Given the description of an element on the screen output the (x, y) to click on. 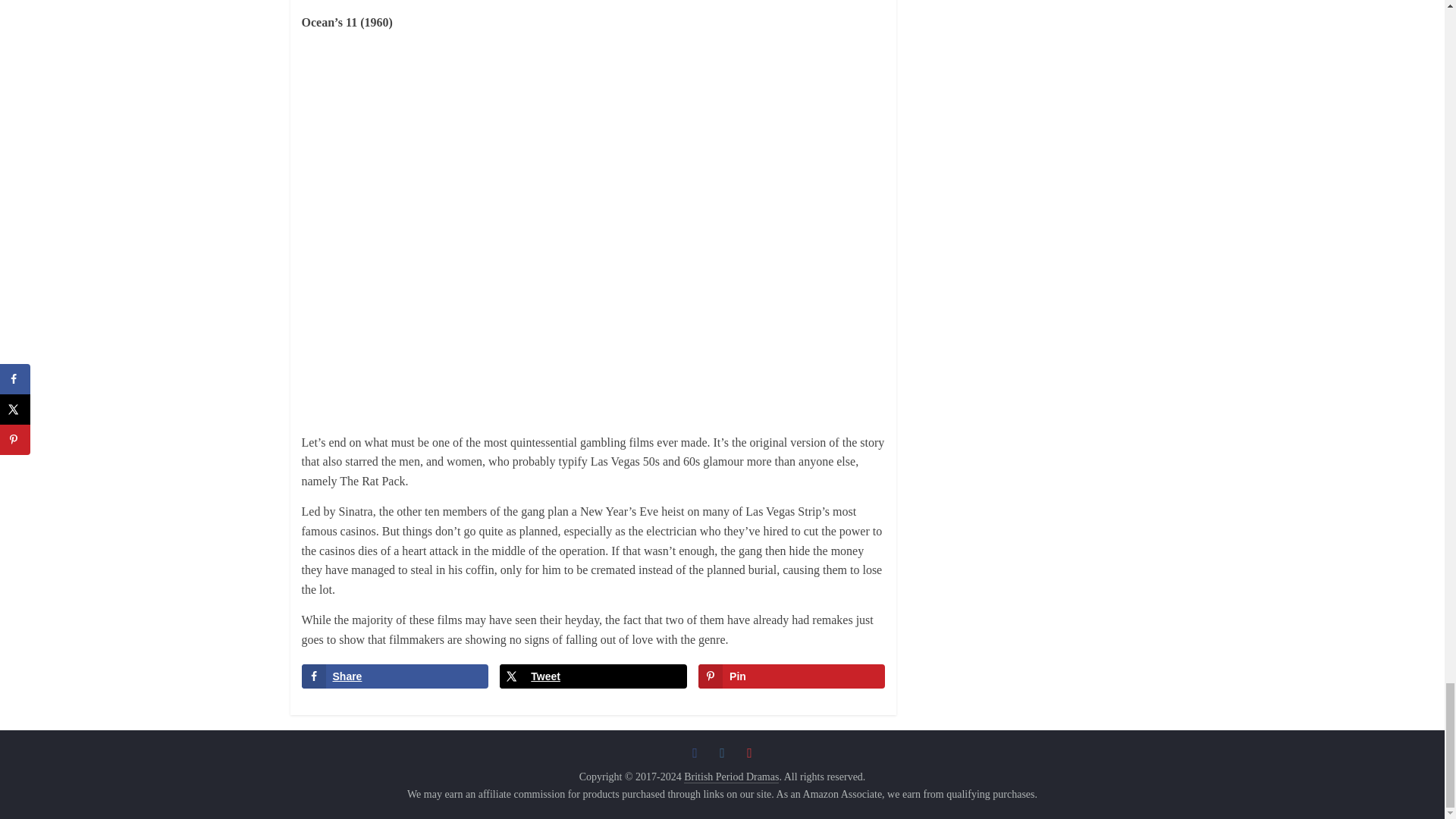
Share on X (592, 676)
Share on Facebook (394, 676)
Tweet (592, 676)
Share (394, 676)
Pin (791, 676)
